Given the description of an element on the screen output the (x, y) to click on. 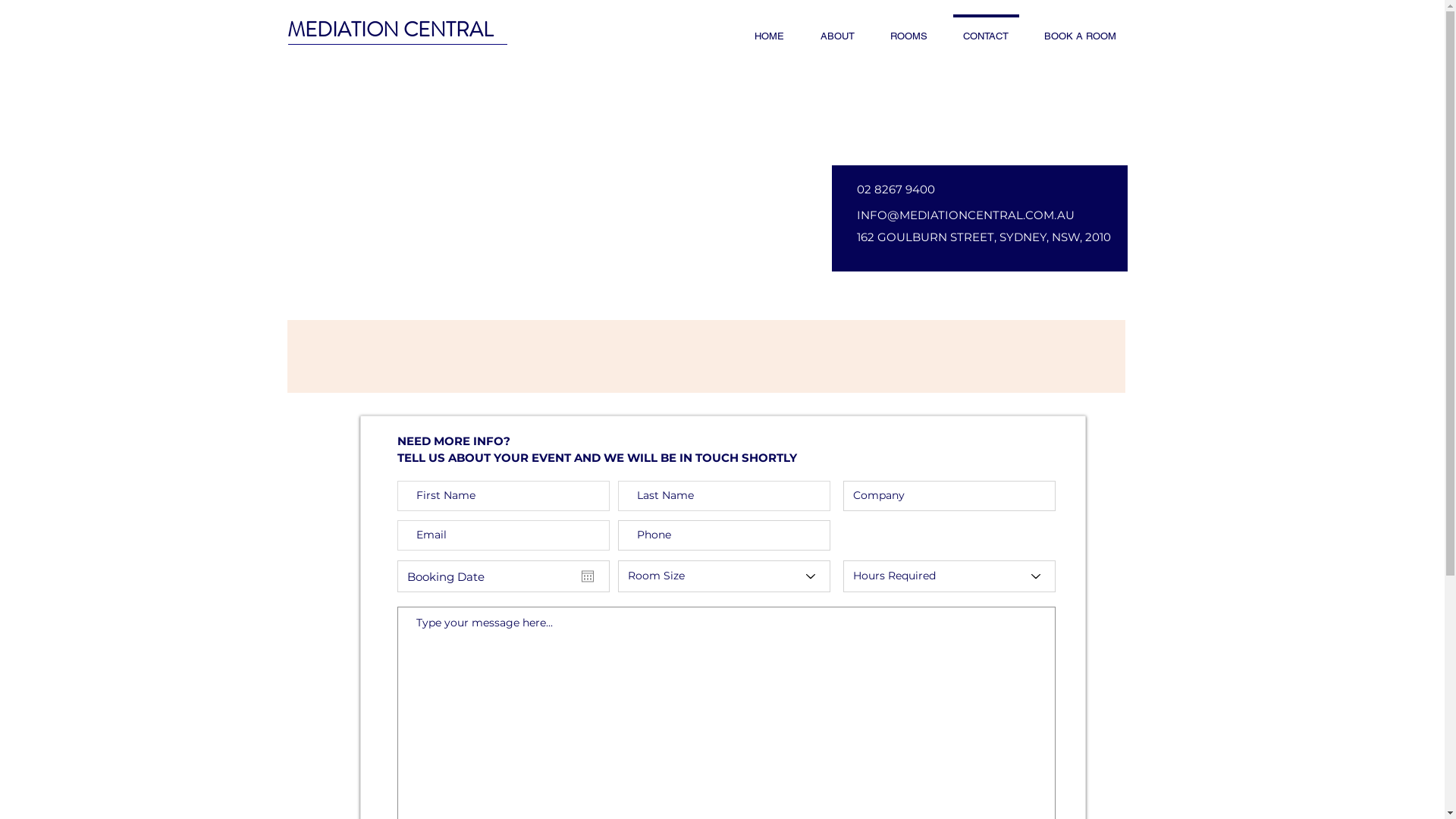
Google Maps Element type: hover (705, 213)
BOOK A ROOM Element type: text (1080, 29)
CONTACT Element type: text (985, 29)
INFO@MEDIATIONCENTRAL.COM.AU Element type: text (965, 214)
HOME Element type: text (768, 29)
ABOUT Element type: text (837, 29)
02 8267 9400 Element type: text (910, 188)
ROOMS Element type: text (908, 29)
